Given the description of an element on the screen output the (x, y) to click on. 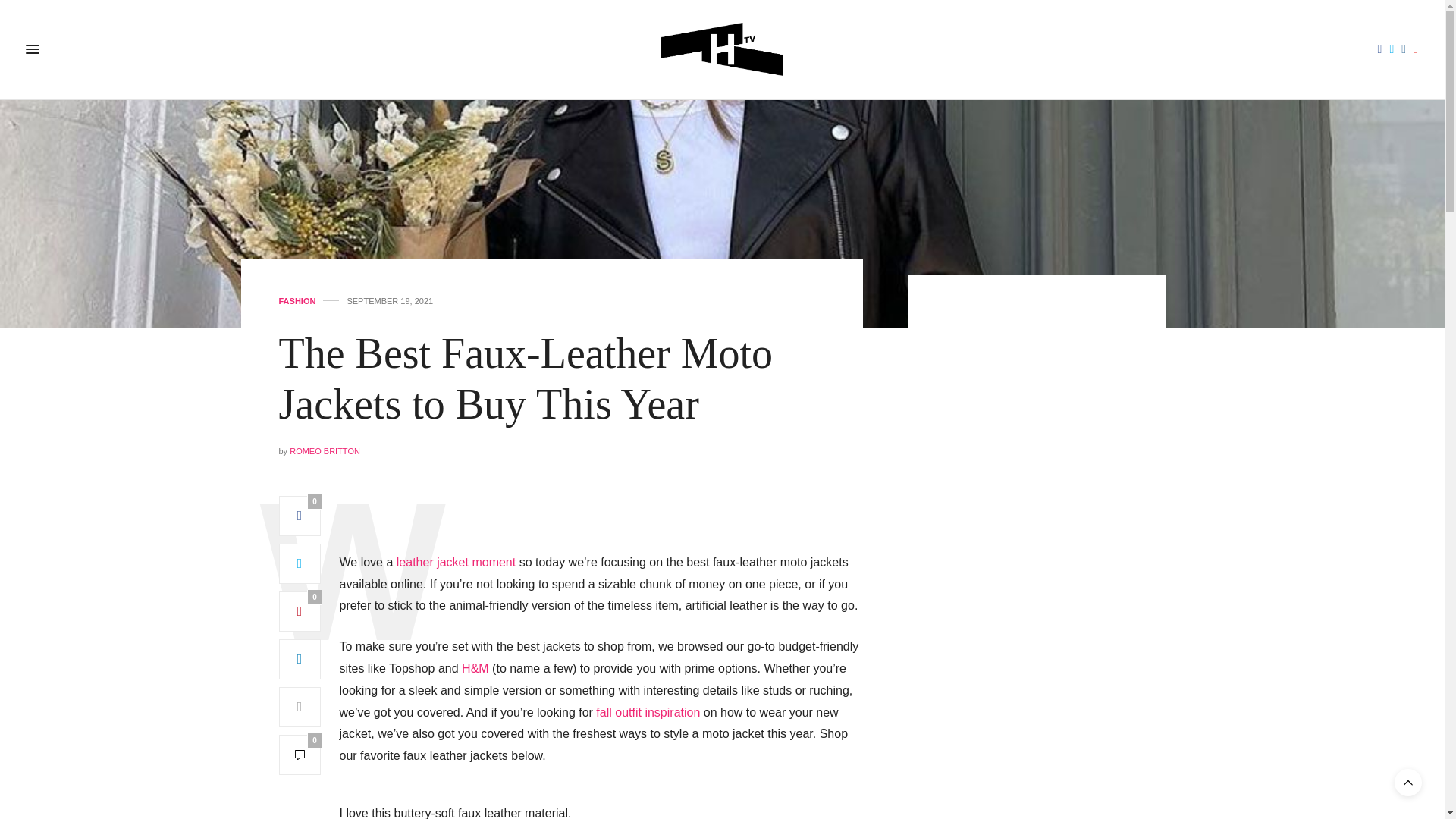
Scroll To Top (1408, 782)
0 (299, 611)
fall outfit inspiration (647, 712)
0 (299, 516)
HOUSEOFGAB.TV (722, 49)
ROMEO BRITTON (324, 450)
FASHION (297, 301)
leather jacket moment (455, 562)
0 (299, 754)
Posts by Romeo Britton (324, 450)
